Given the description of an element on the screen output the (x, y) to click on. 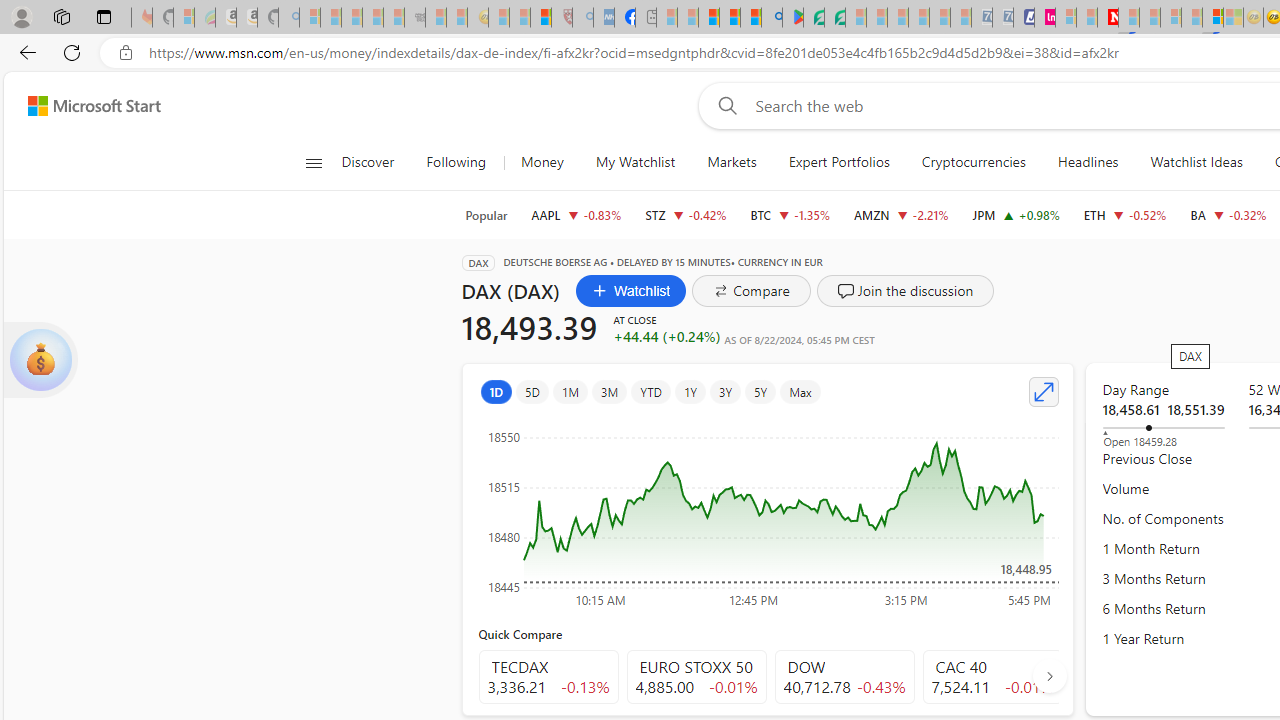
Cryptocurrencies (972, 162)
My Watchlist (635, 162)
Jobs - lastminute.com Investor Portal (1044, 17)
3Y (726, 391)
Local - MSN (541, 17)
AAPL APPLE INC. decrease 224.53 -1.87 -0.83% (575, 214)
Pets - MSN (729, 17)
